Given the description of an element on the screen output the (x, y) to click on. 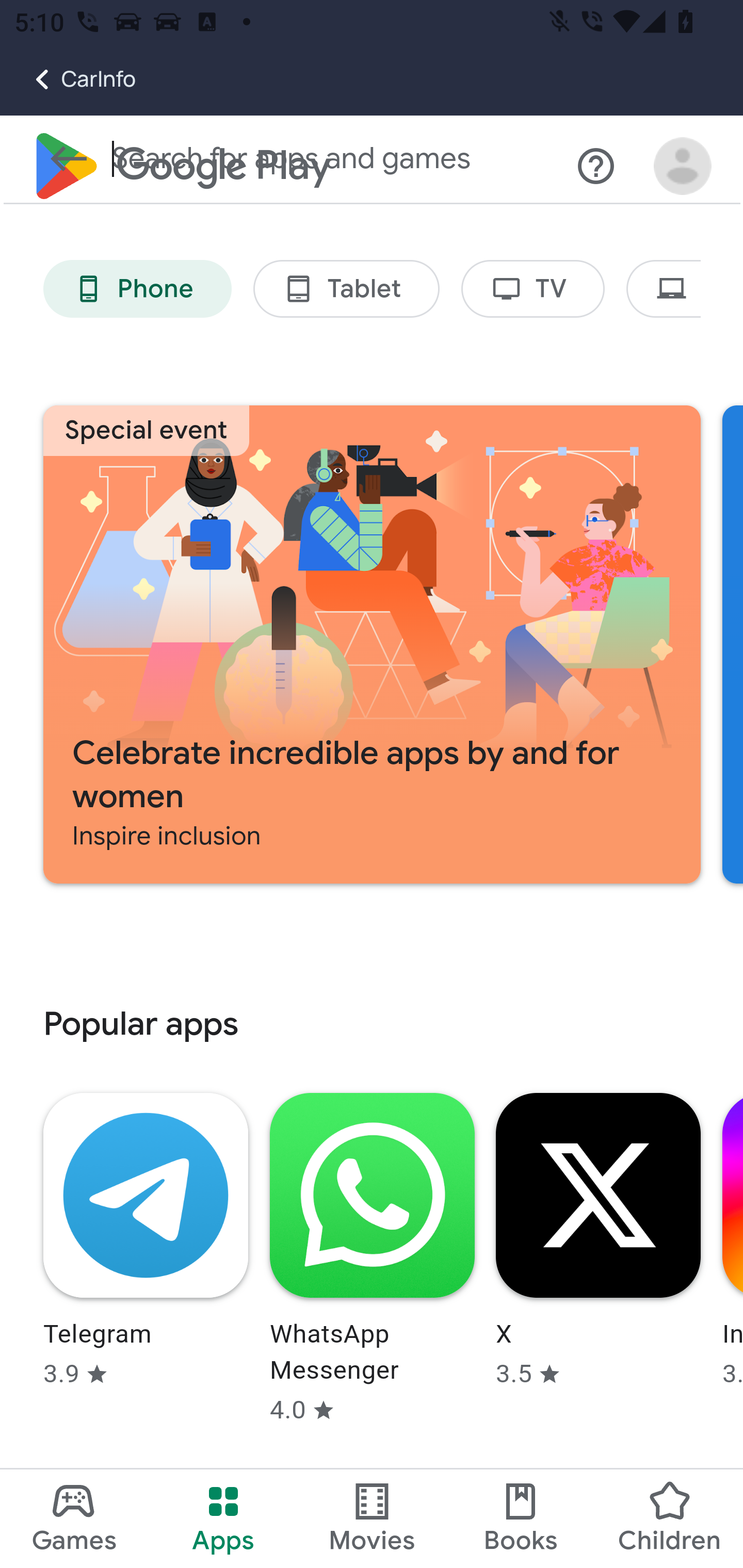
CarInfo (67, 79)
Google Play logo (180, 166)
Help centre (596, 166)
Open account menu (682, 166)
Phone (137, 289)
Tablet (346, 289)
TV (533, 289)
Chromebook (663, 289)
Games (74, 1518)
Apps (222, 1518)
Movies (372, 1518)
Books (520, 1518)
Children (668, 1518)
